Given the description of an element on the screen output the (x, y) to click on. 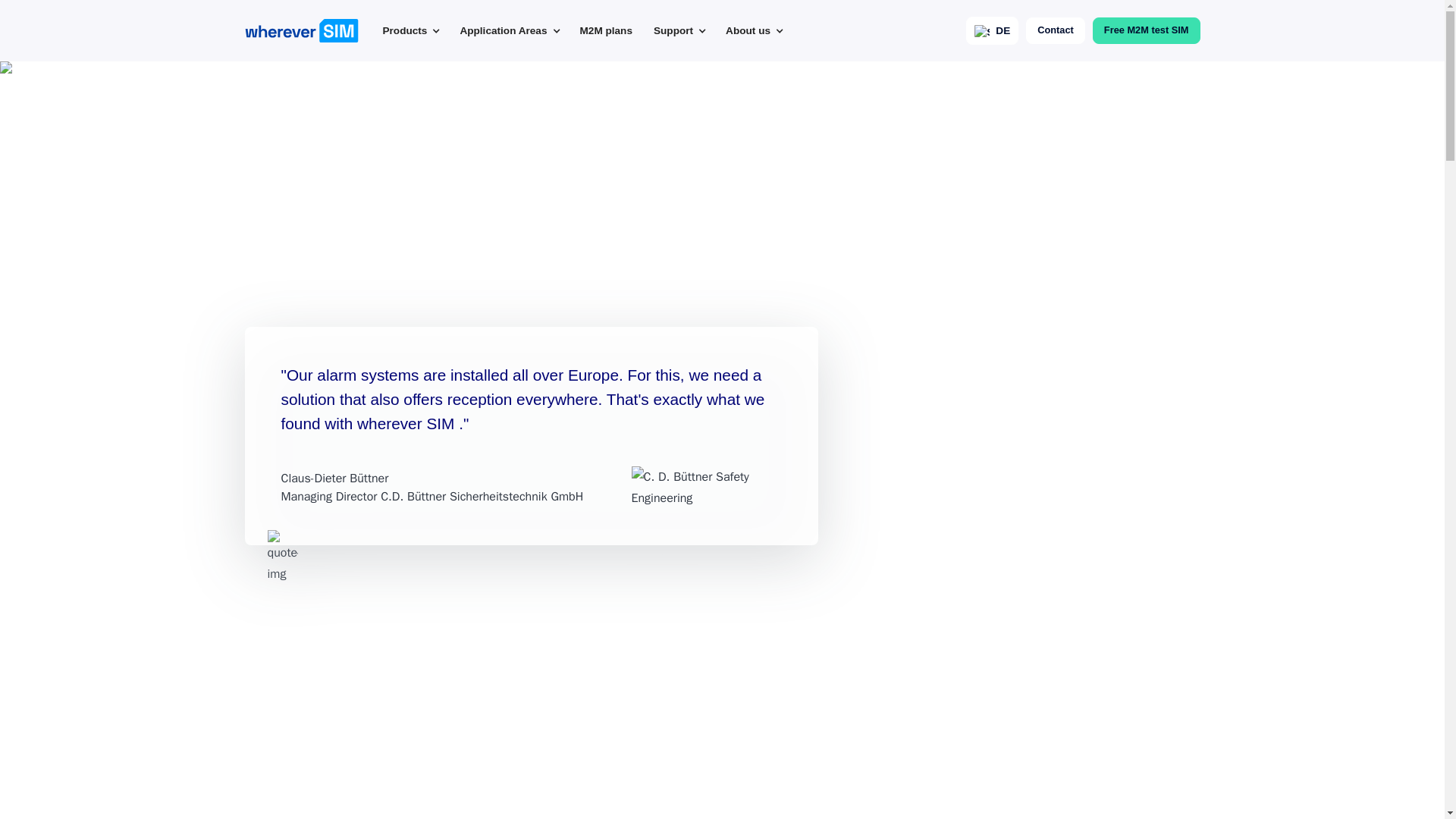
M2M plans (607, 30)
Free M2M test SIM (1146, 30)
Contact (1055, 30)
